Given the description of an element on the screen output the (x, y) to click on. 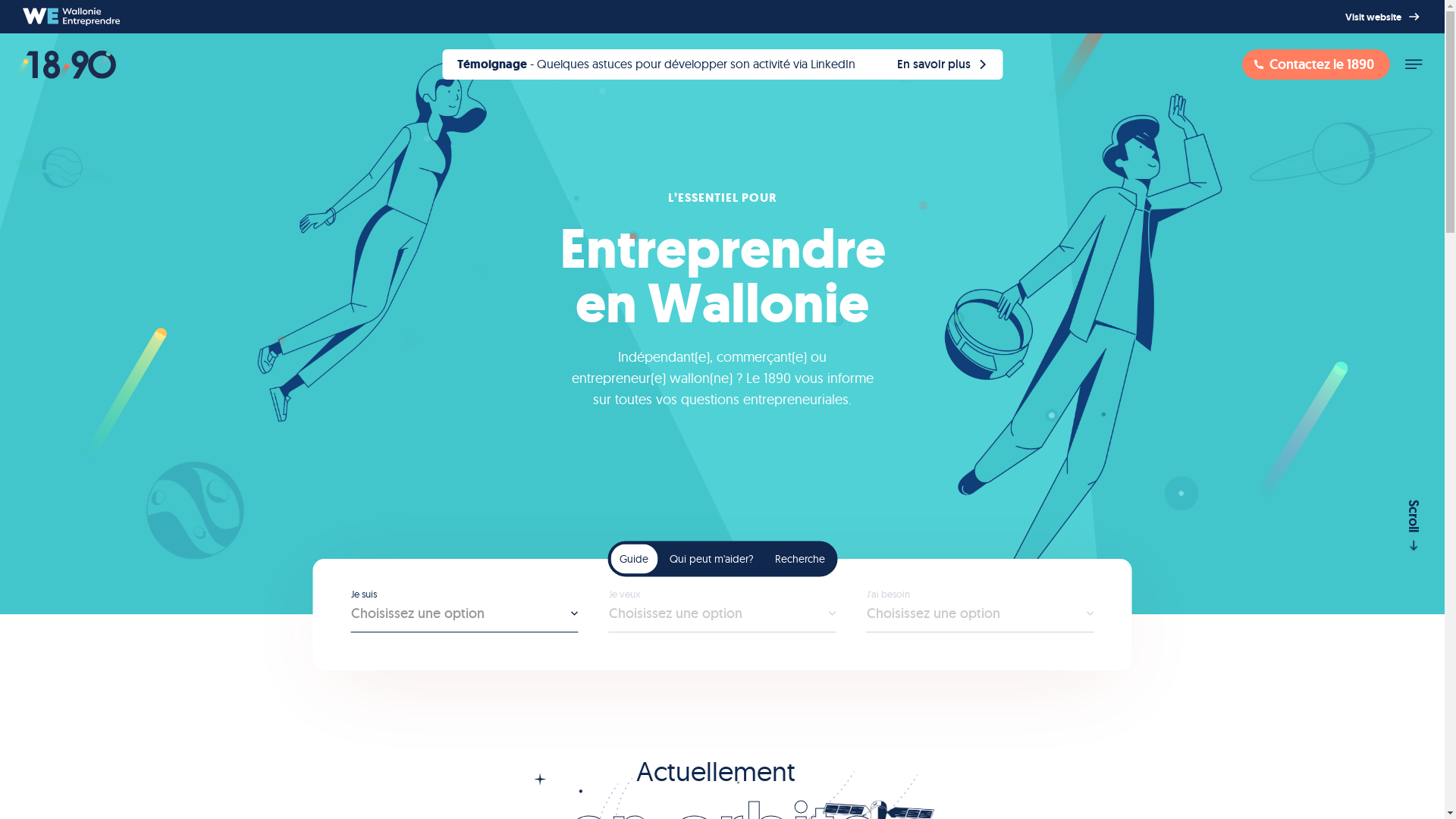
Contactez le 1890 Element type: text (1316, 64)
Choisissez une option Element type: text (721, 618)
En savoir plus Element type: hover (722, 64)
Visit website Element type: text (1383, 16)
Guide Element type: text (633, 558)
Recherche Element type: text (799, 558)
Qui peut m'aider? Element type: text (711, 558)
Wallonie Entreprendre Element type: hover (70, 16)
Choisissez une option Element type: text (979, 618)
Choisissez une option Element type: text (463, 618)
